Given the description of an element on the screen output the (x, y) to click on. 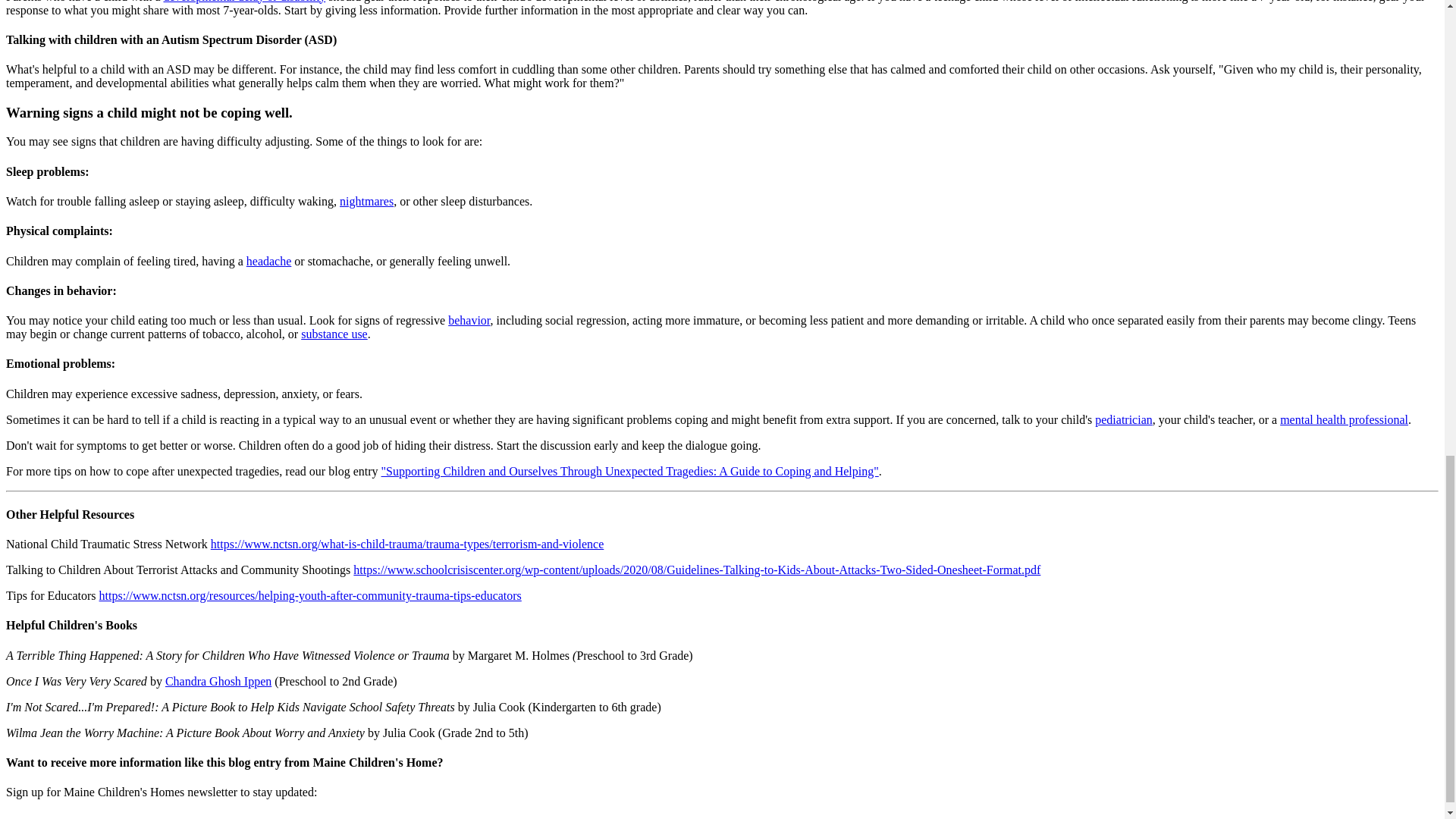
children and nightmares (366, 201)
Tips for Educators (310, 594)
behavior (468, 319)
Chandra Ghosh Ippen (217, 680)
National Child Traumatic Stress Network (407, 543)
developmental delay or disability (244, 1)
more about developmental delay or disability (244, 1)
nightmares (366, 201)
more about child behavior (468, 319)
children and headaches (269, 260)
more about mental health care (1343, 419)
headache (269, 260)
when to call your pediatrician (1123, 419)
